Given the description of an element on the screen output the (x, y) to click on. 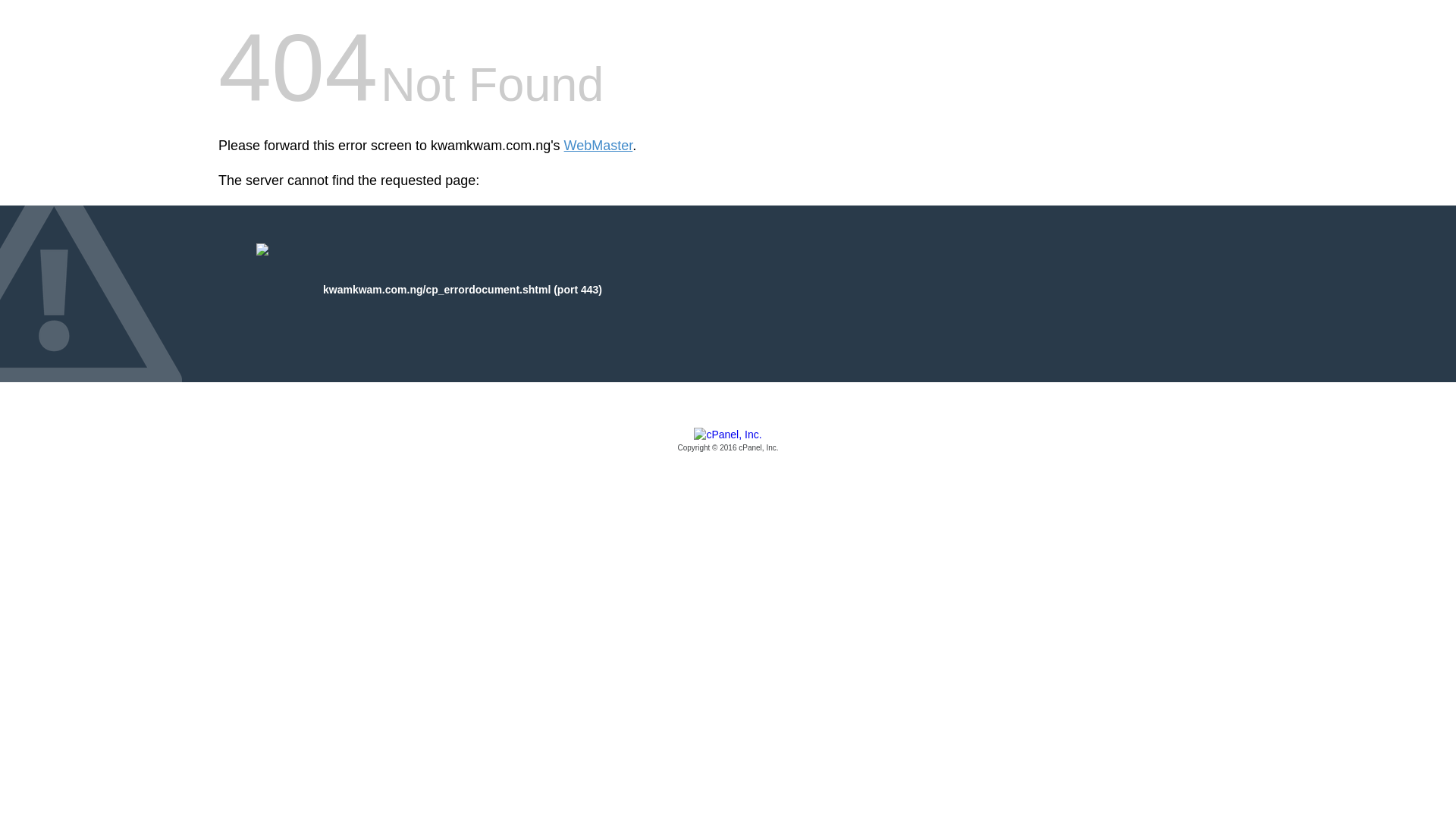
cPanel, Inc. (727, 440)
WebMaster (598, 145)
